Given the description of an element on the screen output the (x, y) to click on. 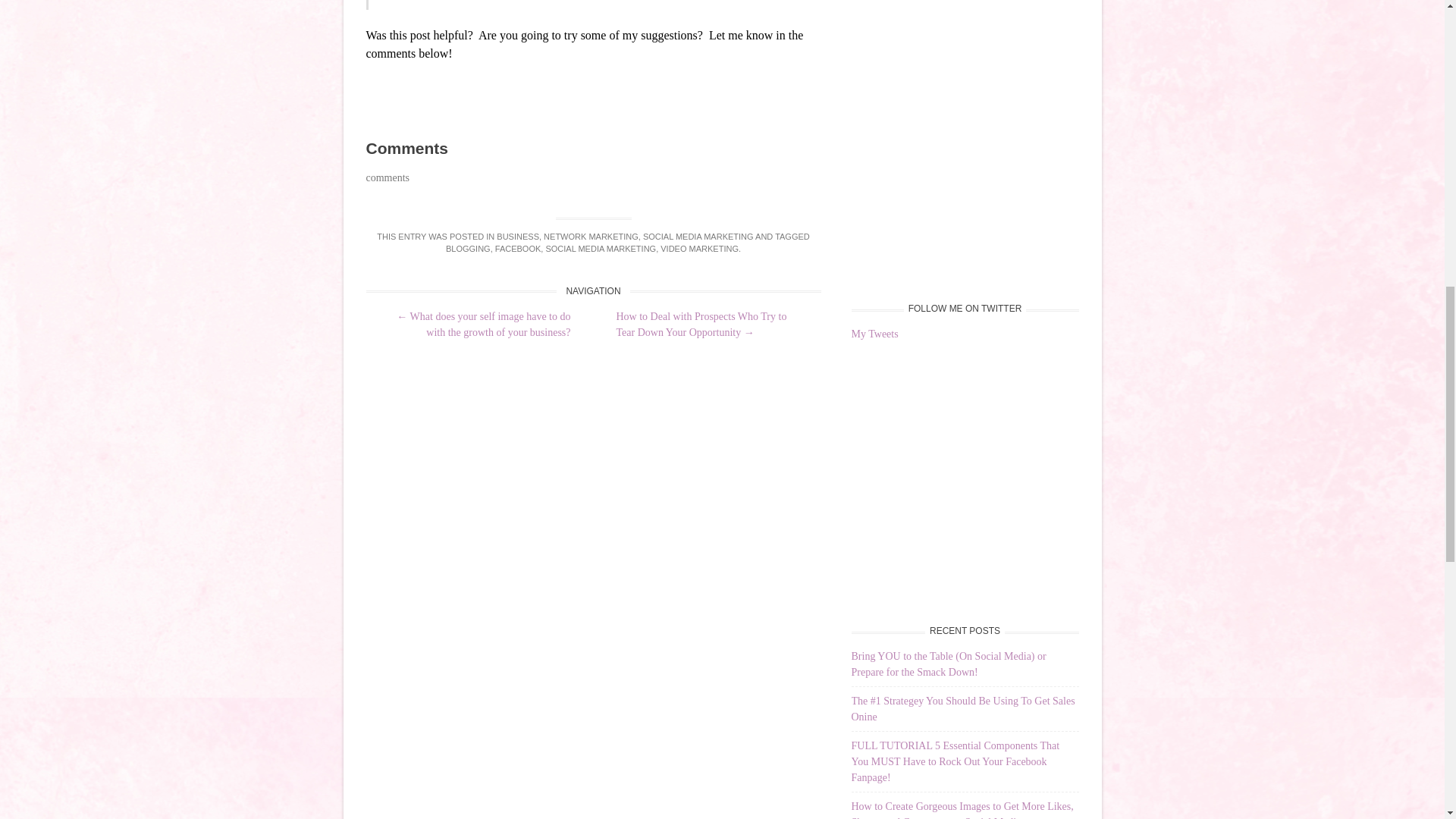
BLOGGING (467, 248)
VIDEO MARKETING (699, 248)
BUSINESS (517, 235)
SOCIAL MEDIA MARKETING (600, 248)
SOCIAL MEDIA MARKETING (698, 235)
NETWORK MARKETING (591, 235)
FACEBOOK (518, 248)
